Given the description of an element on the screen output the (x, y) to click on. 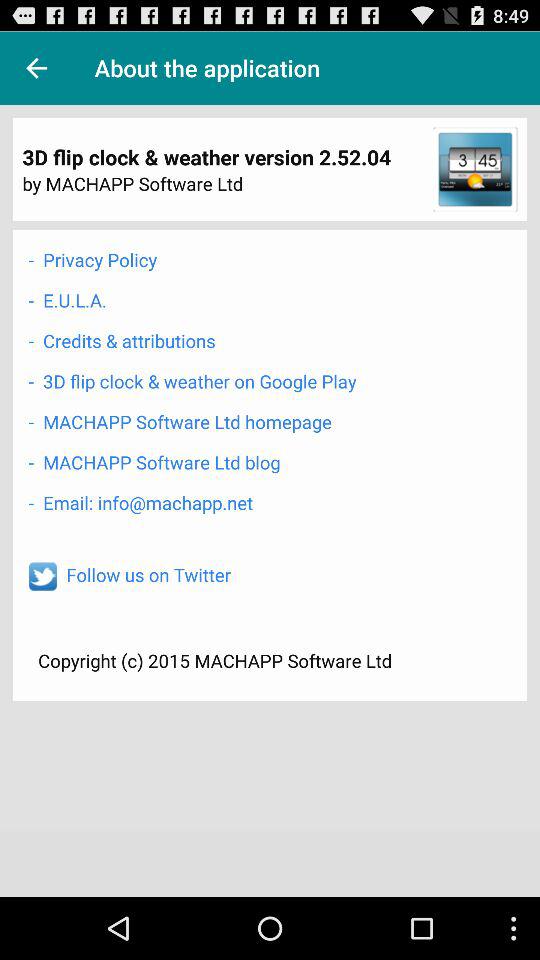
turn on the item next to the by machapp software icon (475, 169)
